Given the description of an element on the screen output the (x, y) to click on. 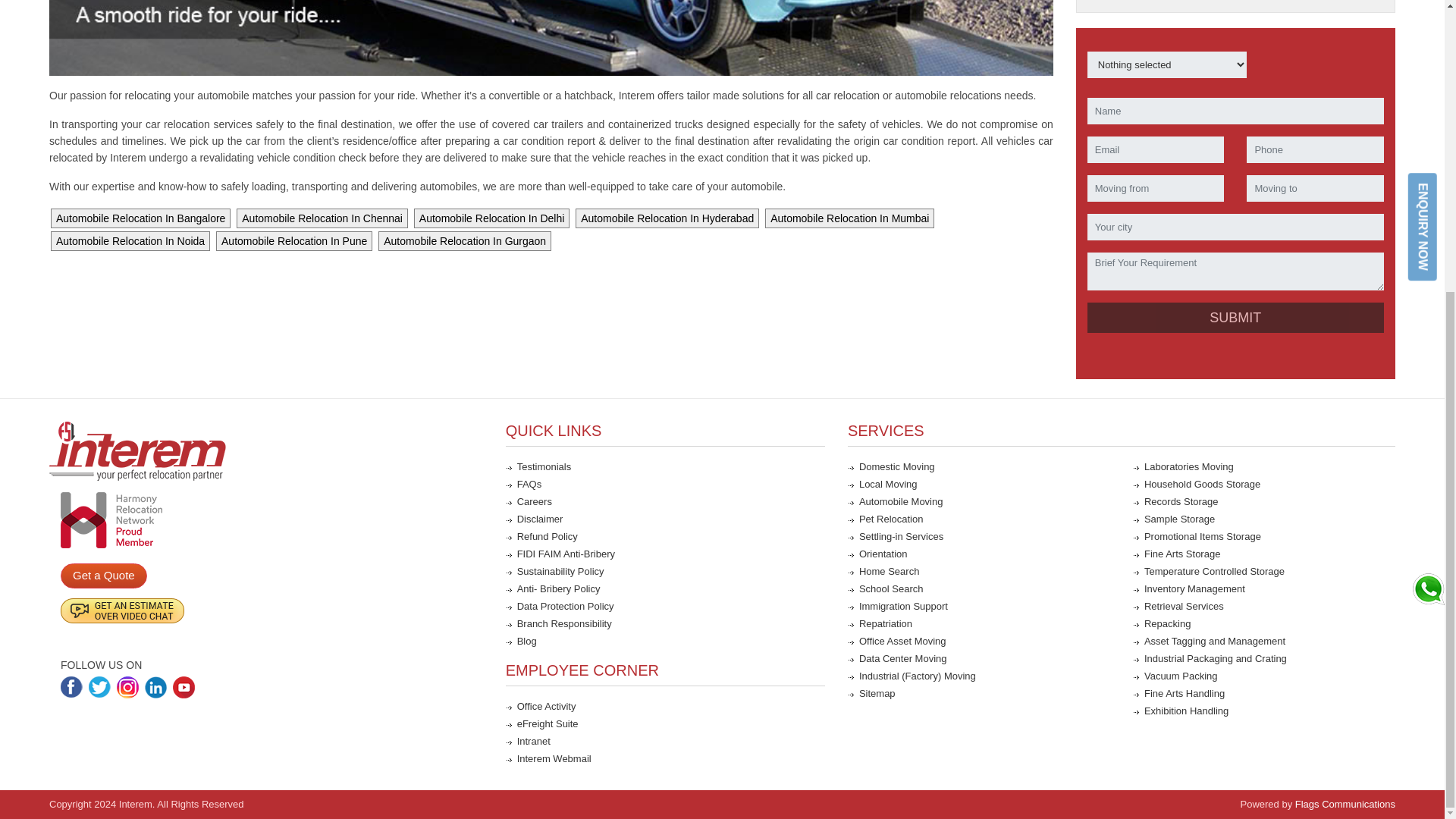
Automobile Relocation In Delhi (491, 218)
Automobile Relocation In Noida (130, 241)
Automobile Relocation In Pune (293, 241)
Automobile Relocation In Bangalore (140, 218)
Automobile Relocation In Hyderabad (667, 218)
Automobile Relocation In Gurgaon (465, 241)
Video Chat (122, 604)
Automobile Relocation In Chennai (322, 218)
SUBMIT (1235, 317)
Automobile Relocation In Mumbai (849, 218)
